Given the description of an element on the screen output the (x, y) to click on. 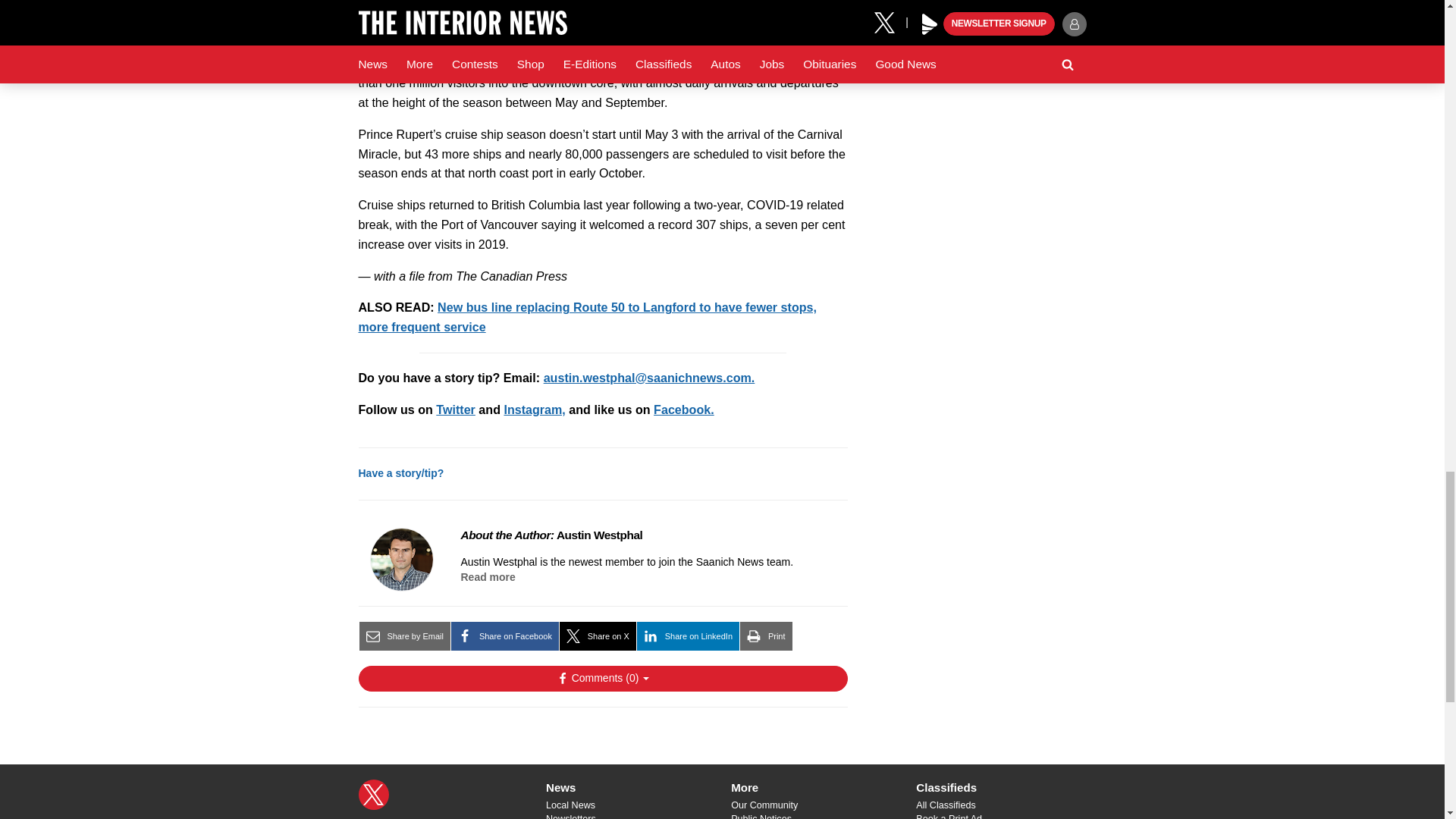
Show Comments (602, 678)
X (373, 794)
